Given the description of an element on the screen output the (x, y) to click on. 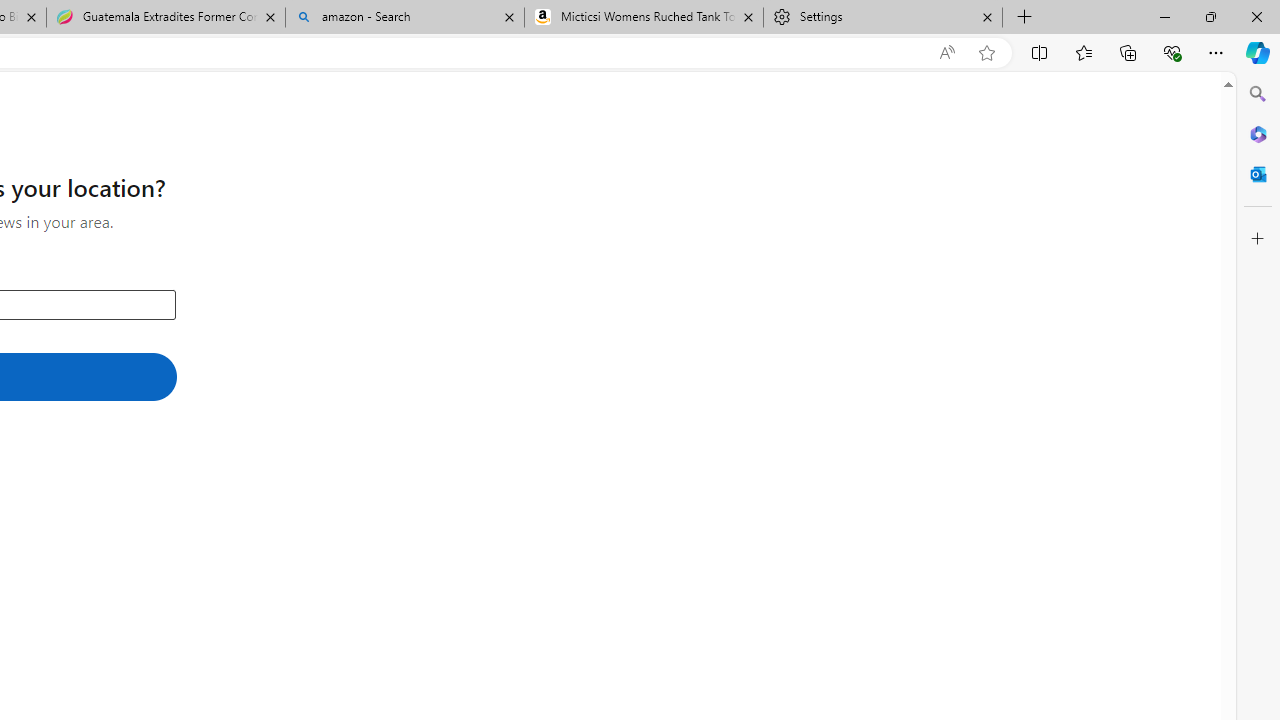
amazon - Search (404, 17)
